Given the description of an element on the screen output the (x, y) to click on. 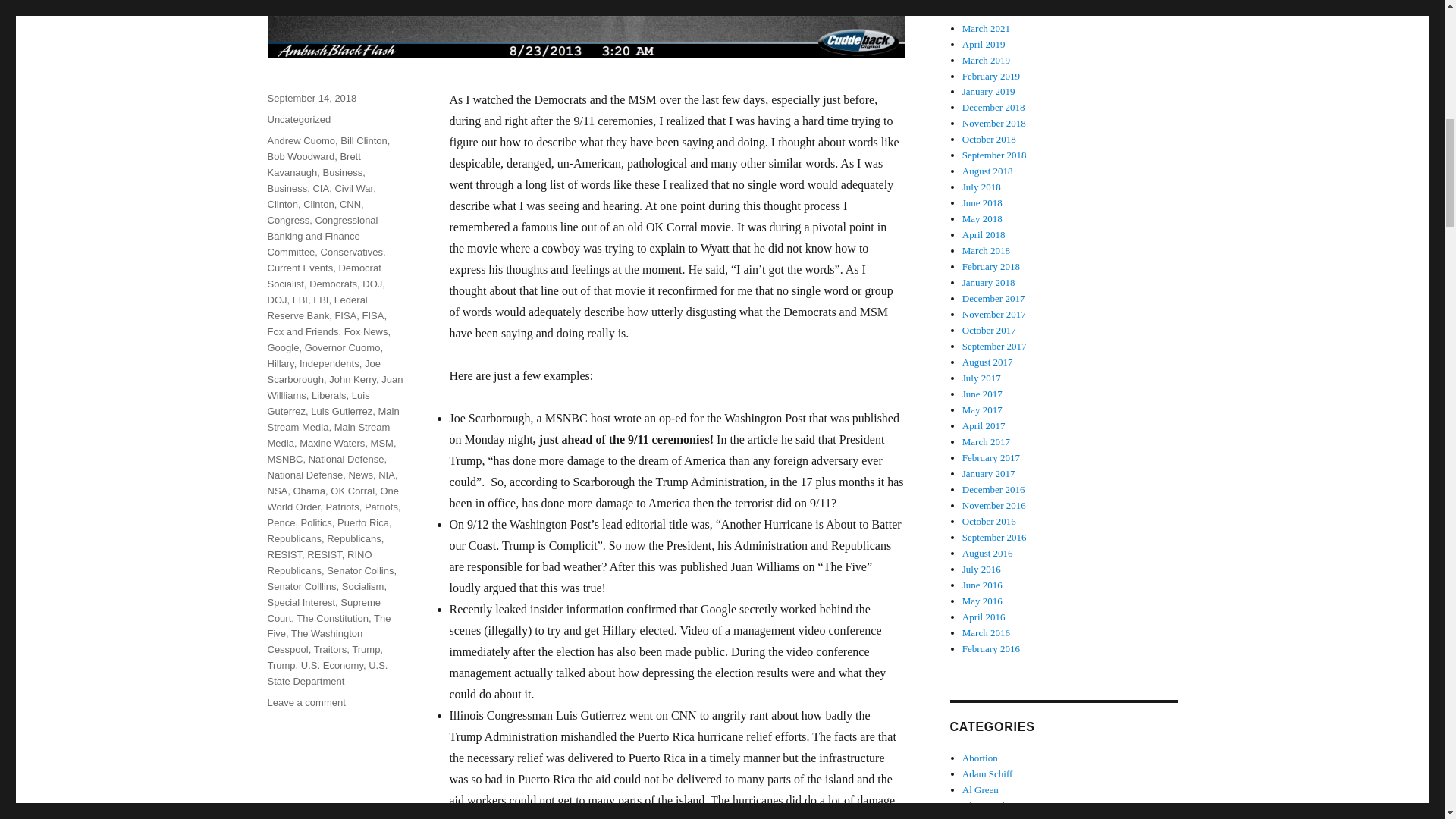
Fox News (365, 331)
Liberals (328, 395)
September 14, 2018 (311, 98)
DOJ (371, 283)
Current Events (299, 267)
Democrat Socialist (323, 275)
CIA (321, 188)
CNN (350, 204)
Congressional Banking and Finance Committee (321, 235)
FISA (373, 315)
Conservatives (351, 251)
Google (282, 347)
Fox and Friends (301, 331)
Governor Cuomo (342, 347)
Business (342, 172)
